Given the description of an element on the screen output the (x, y) to click on. 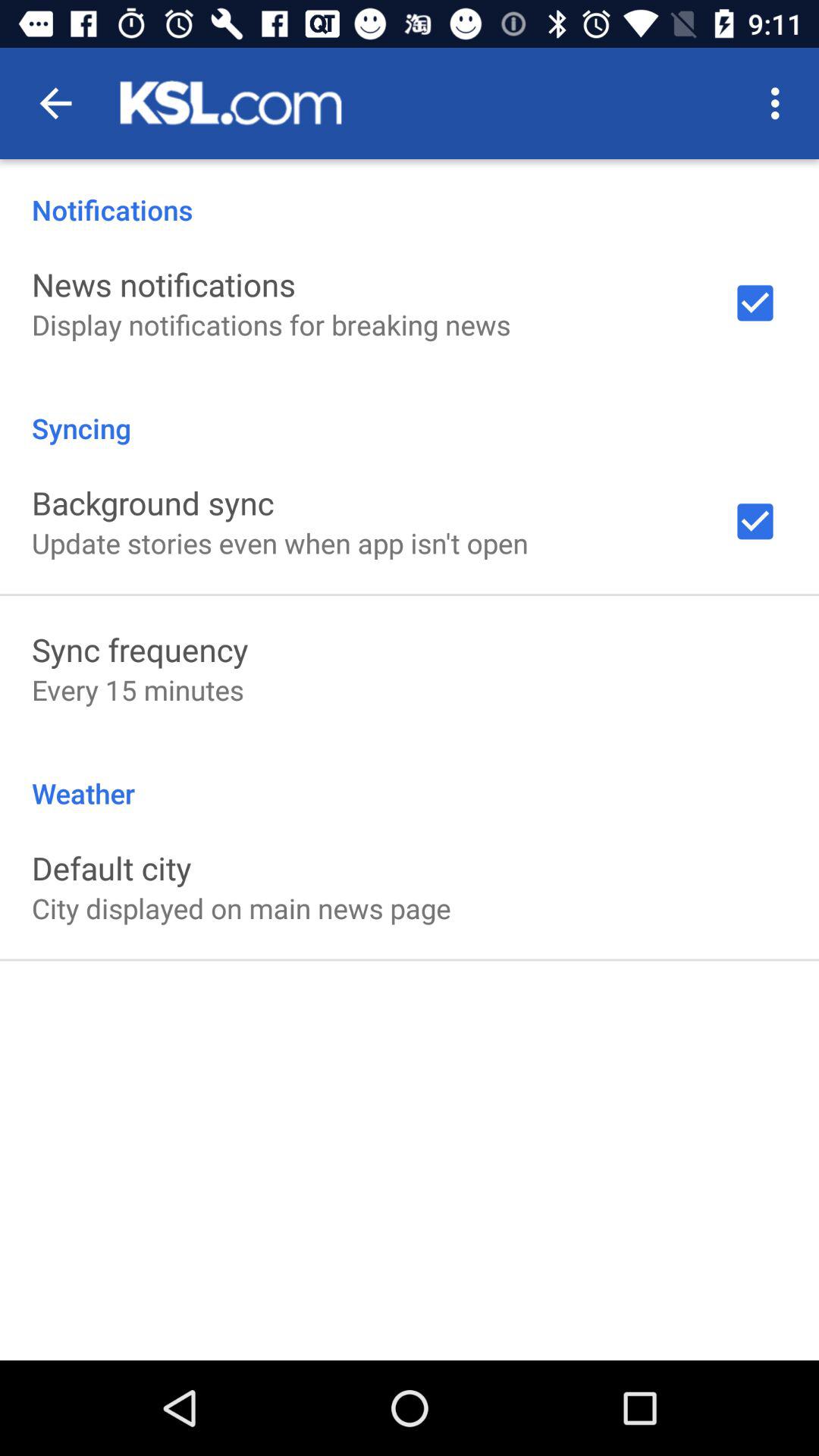
open display notifications for (270, 324)
